Given the description of an element on the screen output the (x, y) to click on. 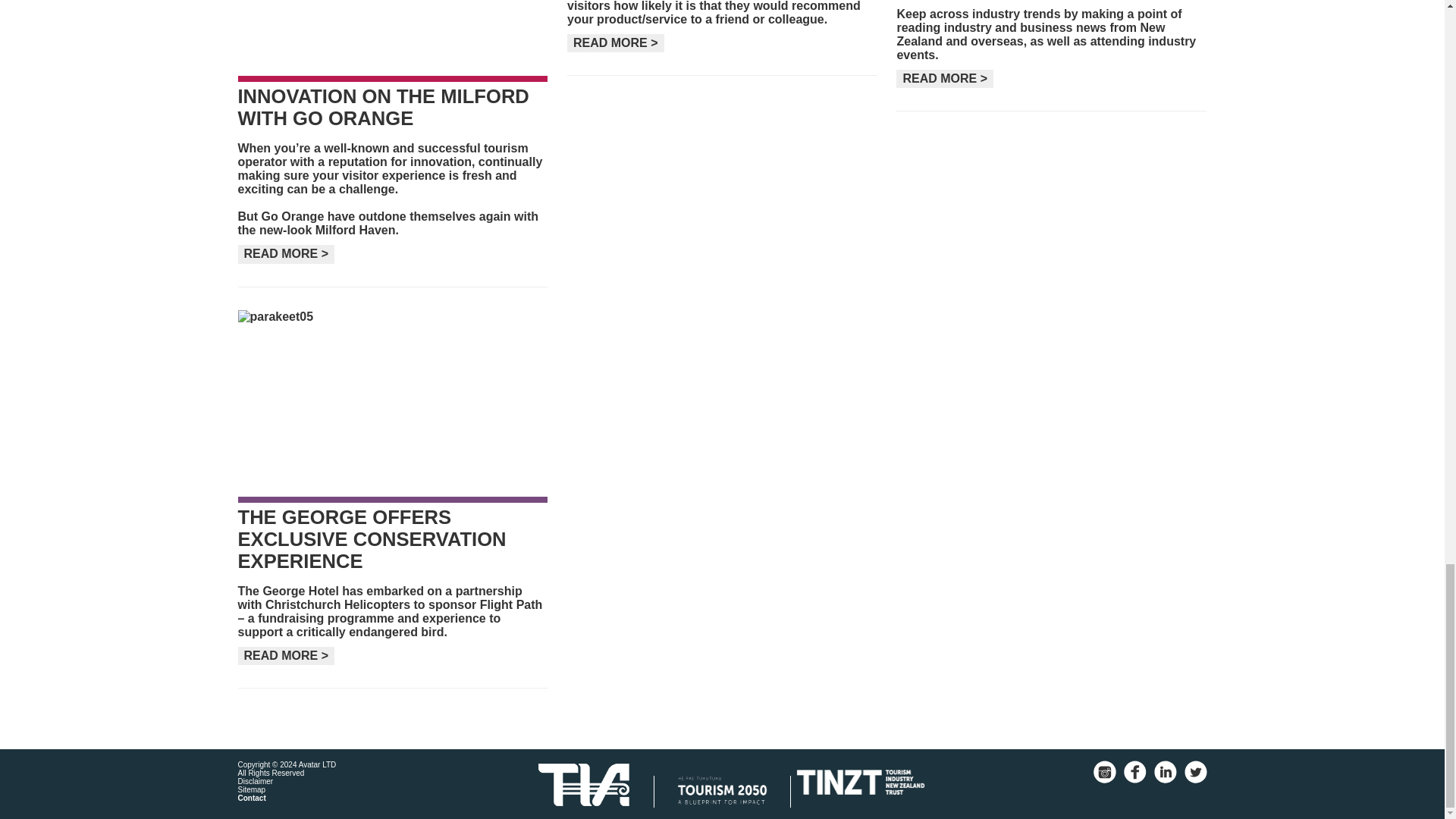
Contact (252, 797)
